Given the description of an element on the screen output the (x, y) to click on. 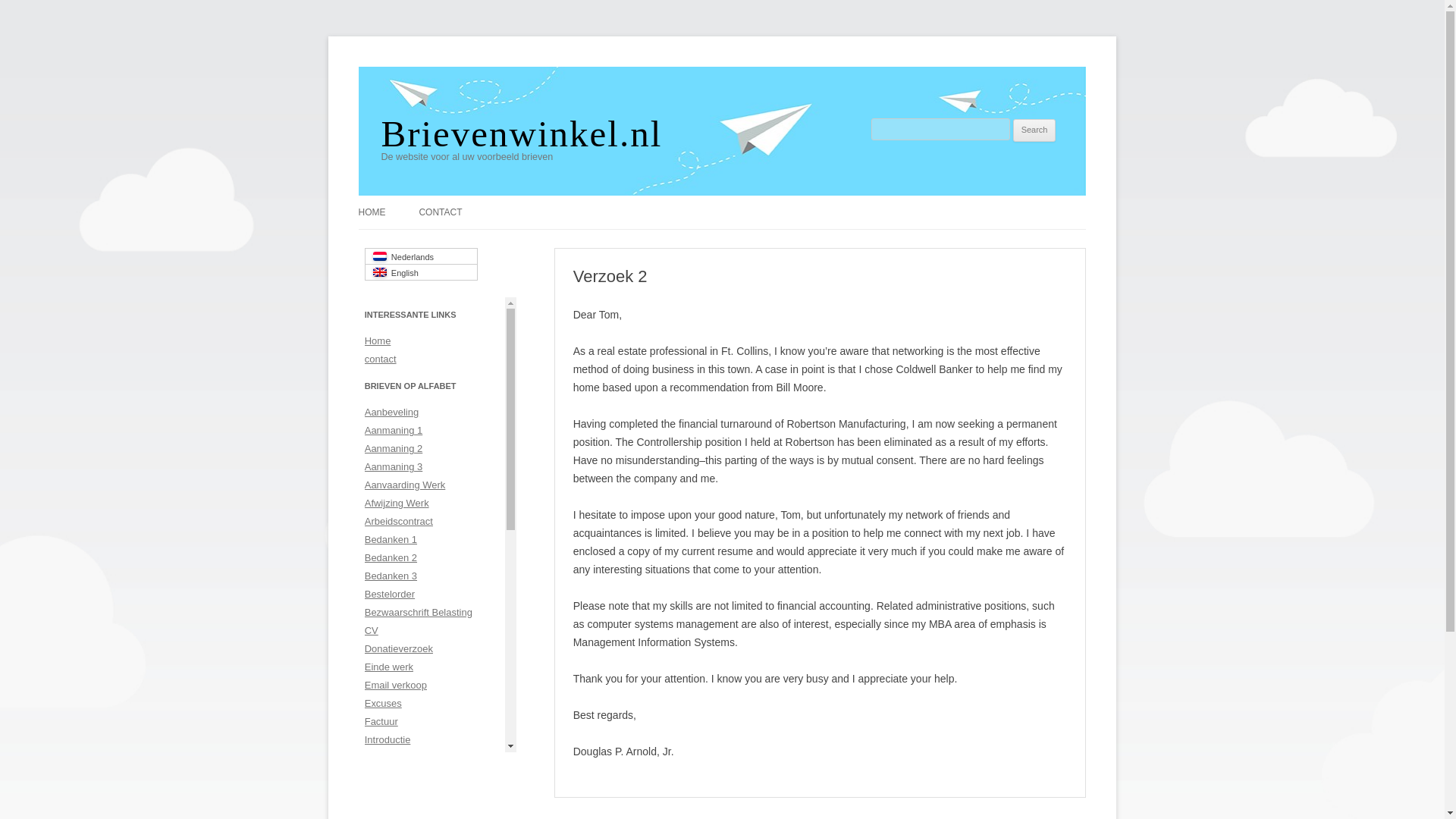
Search (1035, 129)
  Nederlands (421, 256)
Love Letter 1 (393, 776)
Love Letter 3 (393, 812)
contact (380, 358)
Afwijzing Werk (397, 502)
Brievenwinkel.nl (521, 133)
Love Letter 2 (393, 794)
Introductie (387, 739)
Arbeidscontract (398, 521)
Bedanken 1 (390, 539)
Bezwaarschrift Belasting (418, 612)
CONTACT (440, 212)
  English (421, 272)
